Given the description of an element on the screen output the (x, y) to click on. 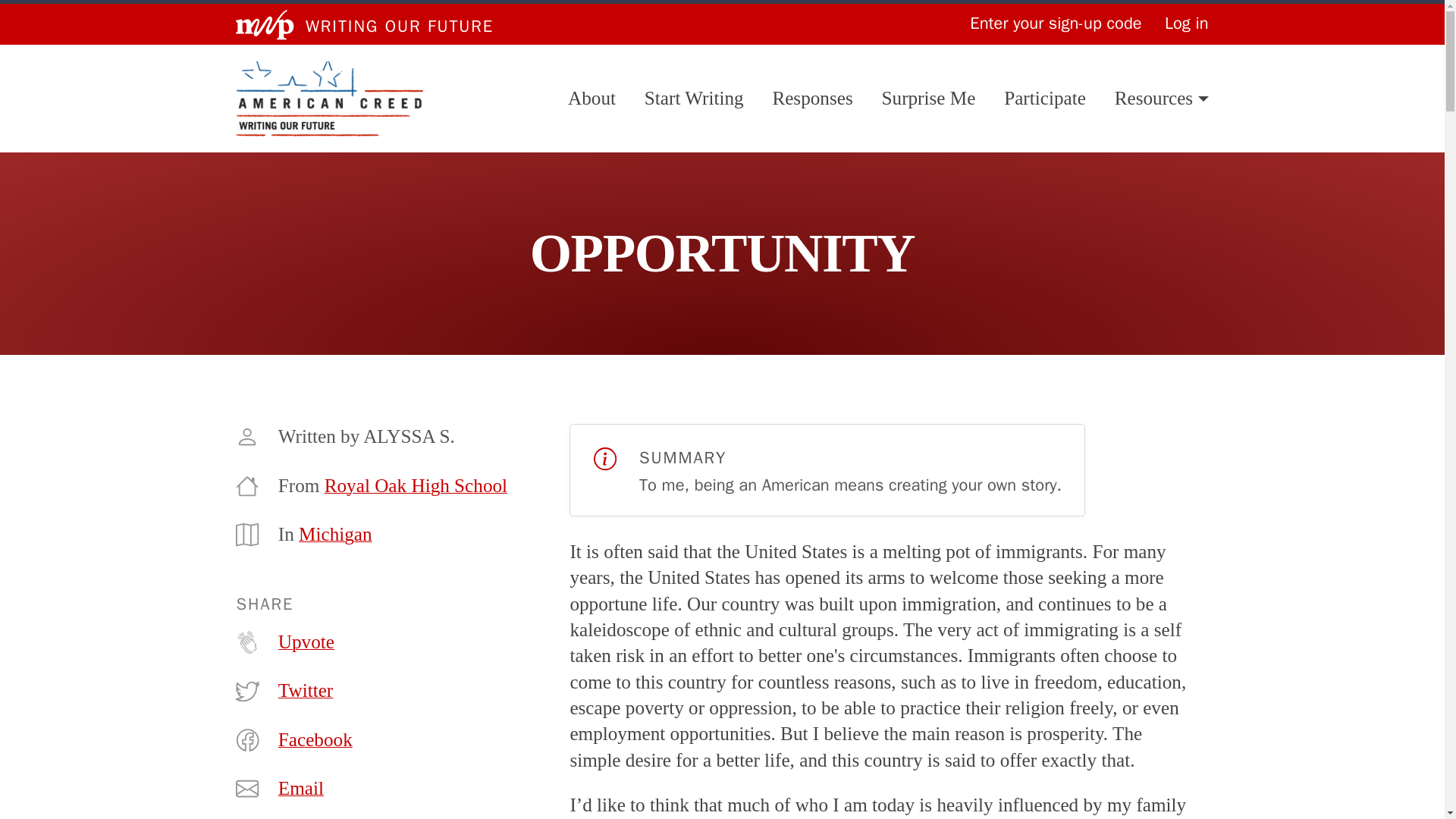
About (591, 98)
National Writing Project (264, 24)
Responses (811, 98)
Twitter (305, 690)
Resources (1161, 98)
Upvote (306, 642)
Michigan (335, 534)
Start Writing (694, 98)
Surprise Me (928, 98)
Facebook (315, 739)
